Given the description of an element on the screen output the (x, y) to click on. 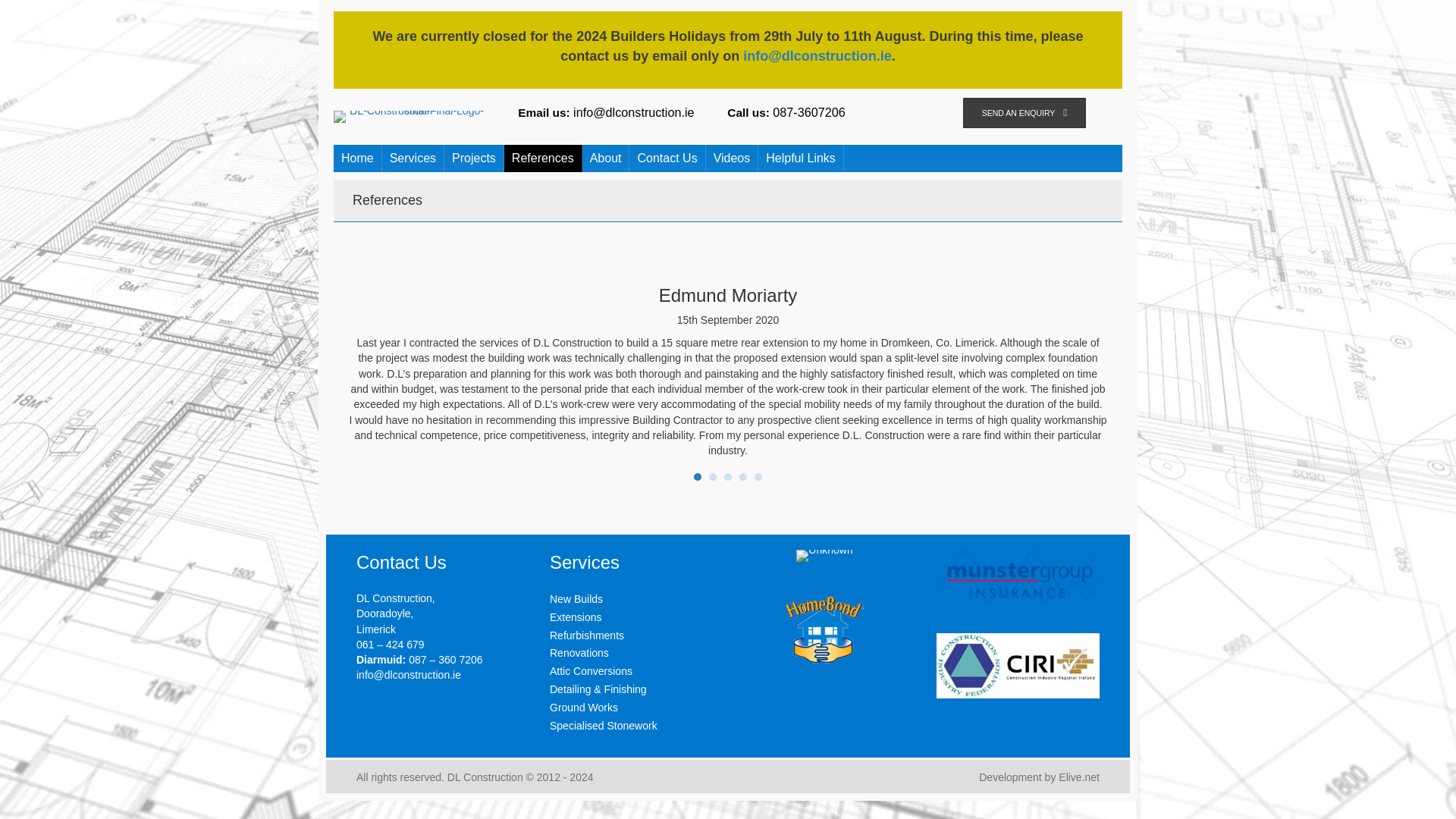
SEND AN ENQUIRY (1024, 112)
Refurbishments (587, 635)
Renovations (579, 653)
New Builds (576, 598)
images (1017, 665)
Videos (732, 157)
5 (757, 476)
Attic Conversions (590, 671)
Unknown (823, 555)
Helpful Links (801, 157)
4 (742, 476)
Projects (473, 157)
1 (697, 476)
Services (412, 157)
DL-Construction-Final-Logo-small (410, 116)
